Given the description of an element on the screen output the (x, y) to click on. 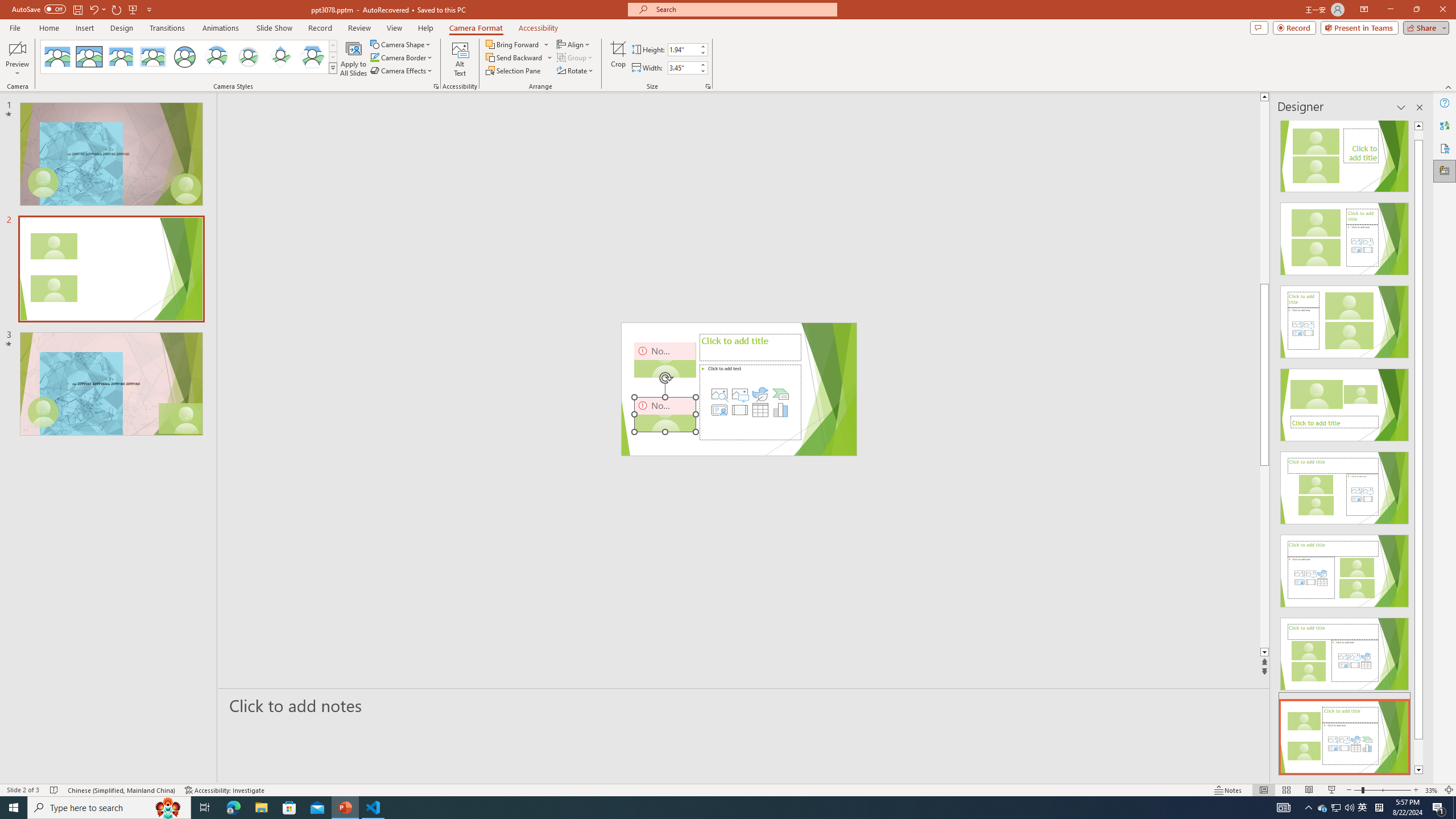
Soft Edge Circle (248, 56)
Size and Position... (707, 85)
Camera Border (401, 56)
Camera Styles (333, 67)
Camera 3, No camera detected. (685, 388)
Camera Shape (400, 44)
Enable Camera Preview (17, 48)
